Given the description of an element on the screen output the (x, y) to click on. 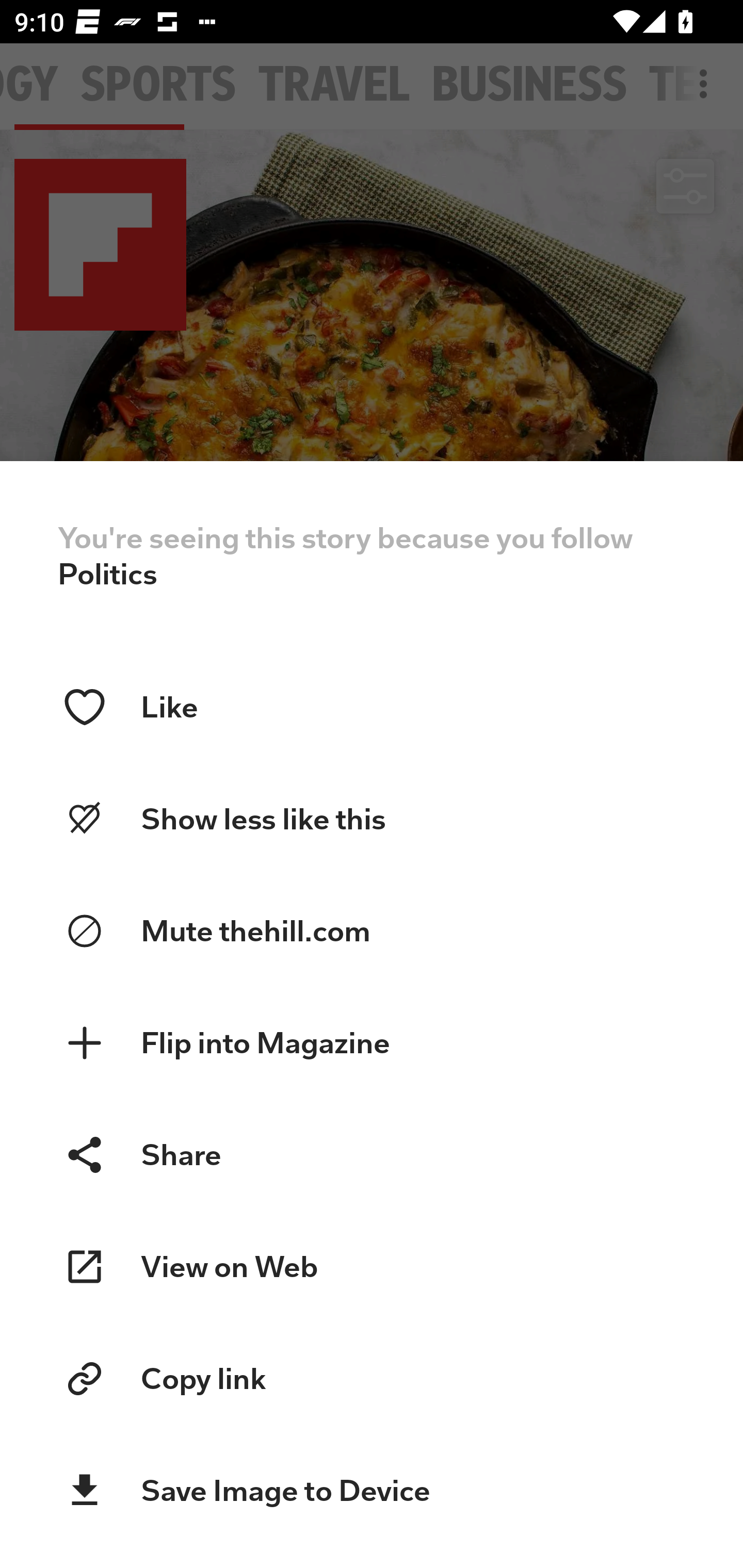
Like (371, 706)
Show less like this (371, 818)
Mute thehill.com (371, 930)
Flip into Magazine (371, 1043)
Share (371, 1154)
View on Web (371, 1266)
Copy link (371, 1378)
Save Image to Device (371, 1490)
